Given the description of an element on the screen output the (x, y) to click on. 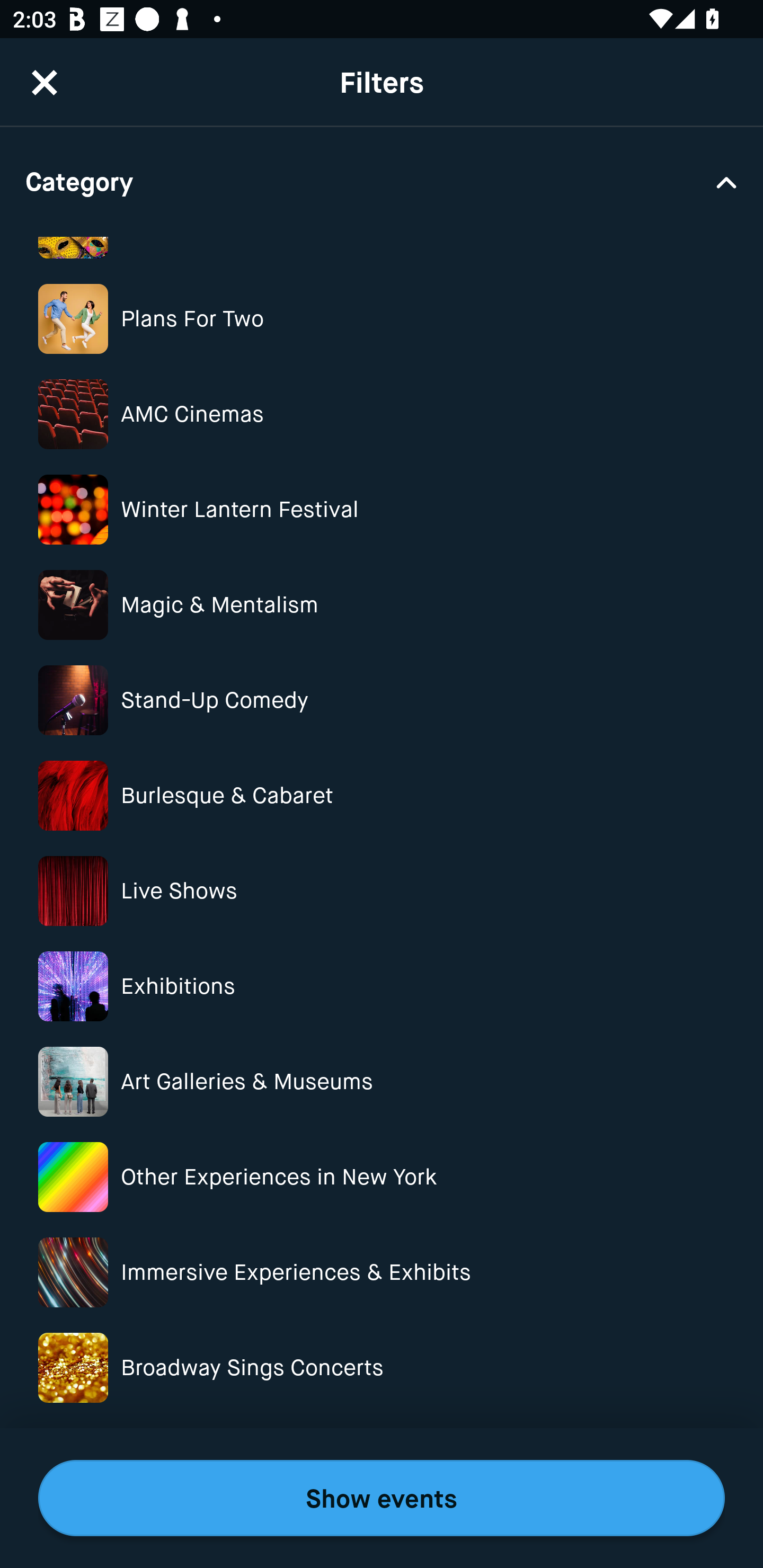
Category Drop Down Arrow (381, 181)
Category Image Plans For Two (381, 318)
Category Image AMC Cinemas (381, 414)
Category Image Winter Lantern Festival (381, 509)
Category Image Magic & Mentalism (381, 604)
Category Image Stand-Up Comedy (381, 699)
Category Image Burlesque & Cabaret (381, 795)
Category Image Live Shows (381, 890)
Category Image Exhibitions (381, 985)
Category Image Art Galleries & Museums (381, 1081)
Category Image Other Experiences in New York (381, 1176)
Category Image Immersive Experiences & Exhibits (381, 1272)
Category Image Broadway Sings Concerts (381, 1367)
Show events (381, 1497)
